Given the description of an element on the screen output the (x, y) to click on. 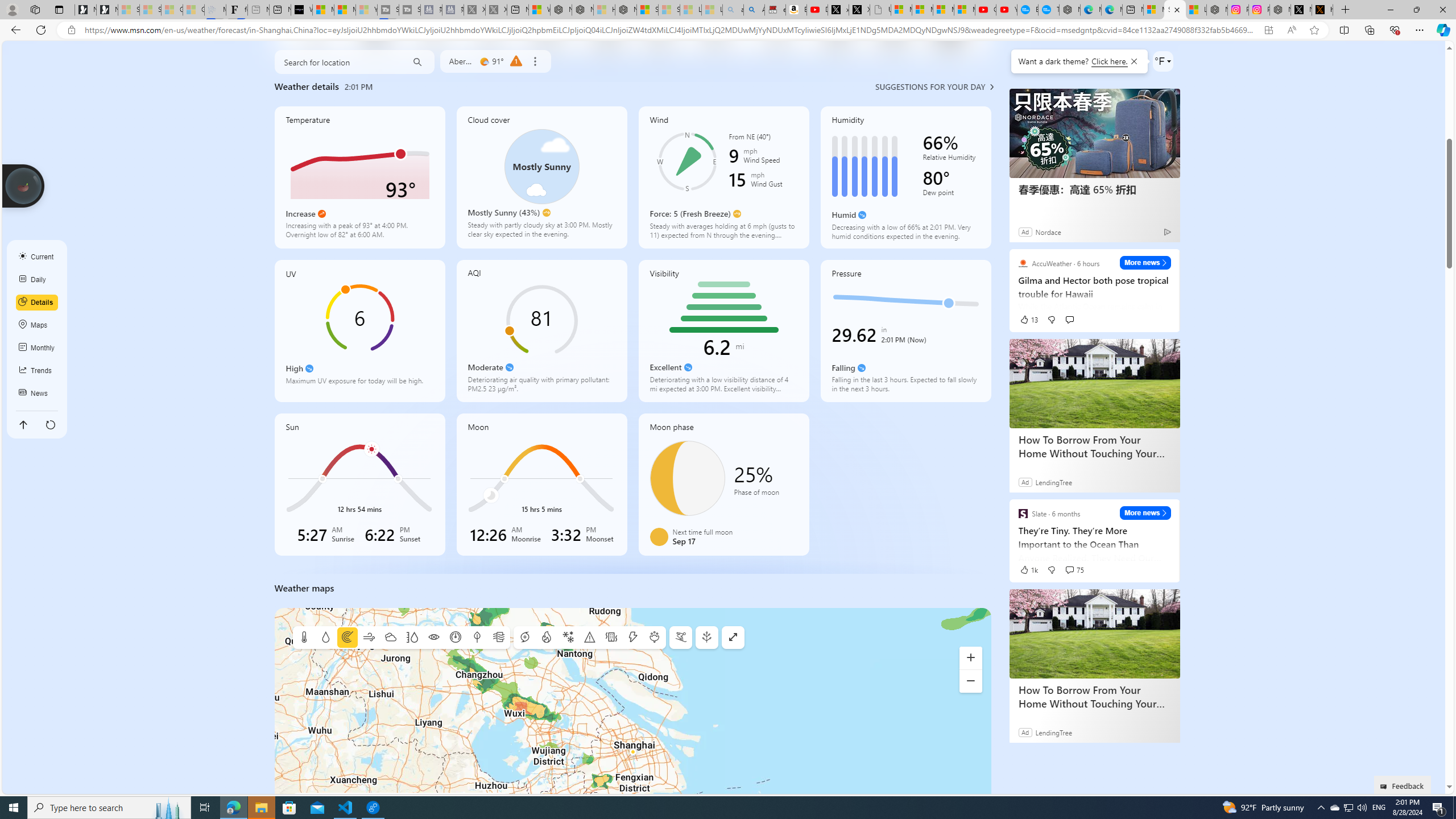
More news (1144, 513)
Daily (37, 279)
Open Map (733, 637)
Class: moonImg-DS-EntryPoint1-1 (658, 536)
Nordace - Nordace Siena Is Not An Ordinary Backpack (626, 9)
amazon - Search - Sleeping (732, 9)
Zoom out (970, 680)
Relative Humidity (951, 159)
Maps (37, 325)
